Given the description of an element on the screen output the (x, y) to click on. 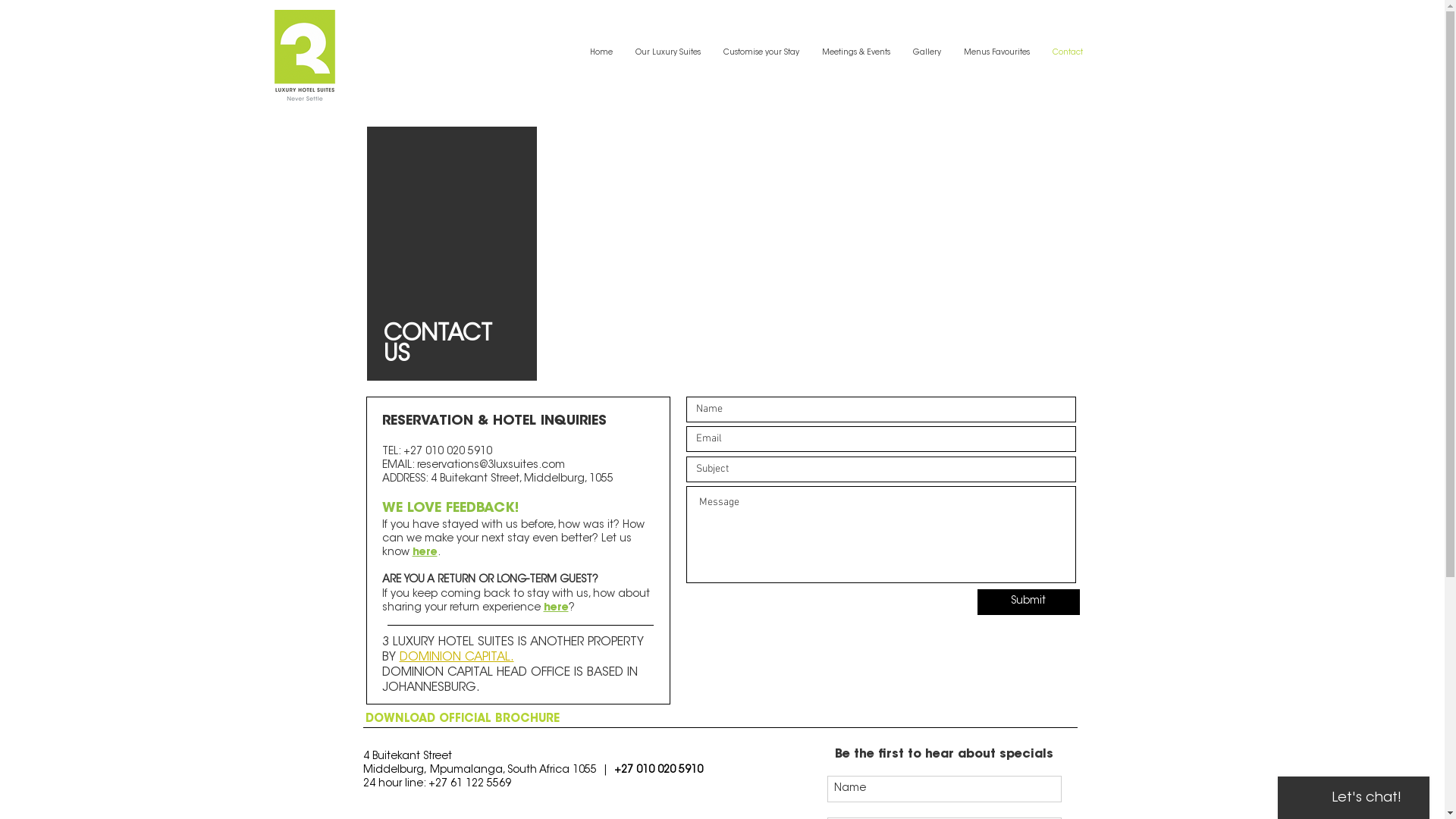
Our Luxury Suites Element type: text (667, 53)
here Element type: text (554, 607)
here Element type: text (424, 552)
reservations@3luxsuites.com Element type: text (490, 465)
Meetings & Events Element type: text (854, 53)
Customise your Stay Element type: text (760, 53)
Home Element type: text (600, 53)
Google Maps Element type: hover (815, 241)
Menus Favourites Element type: text (996, 53)
DOMINION CAPITAL. Element type: text (455, 657)
Gallery Element type: text (925, 53)
Submit Element type: text (1027, 602)
Contact Element type: text (1066, 53)
DOWNLOAD OFFICIAL BROCHURE Element type: text (461, 718)
